Given the description of an element on the screen output the (x, y) to click on. 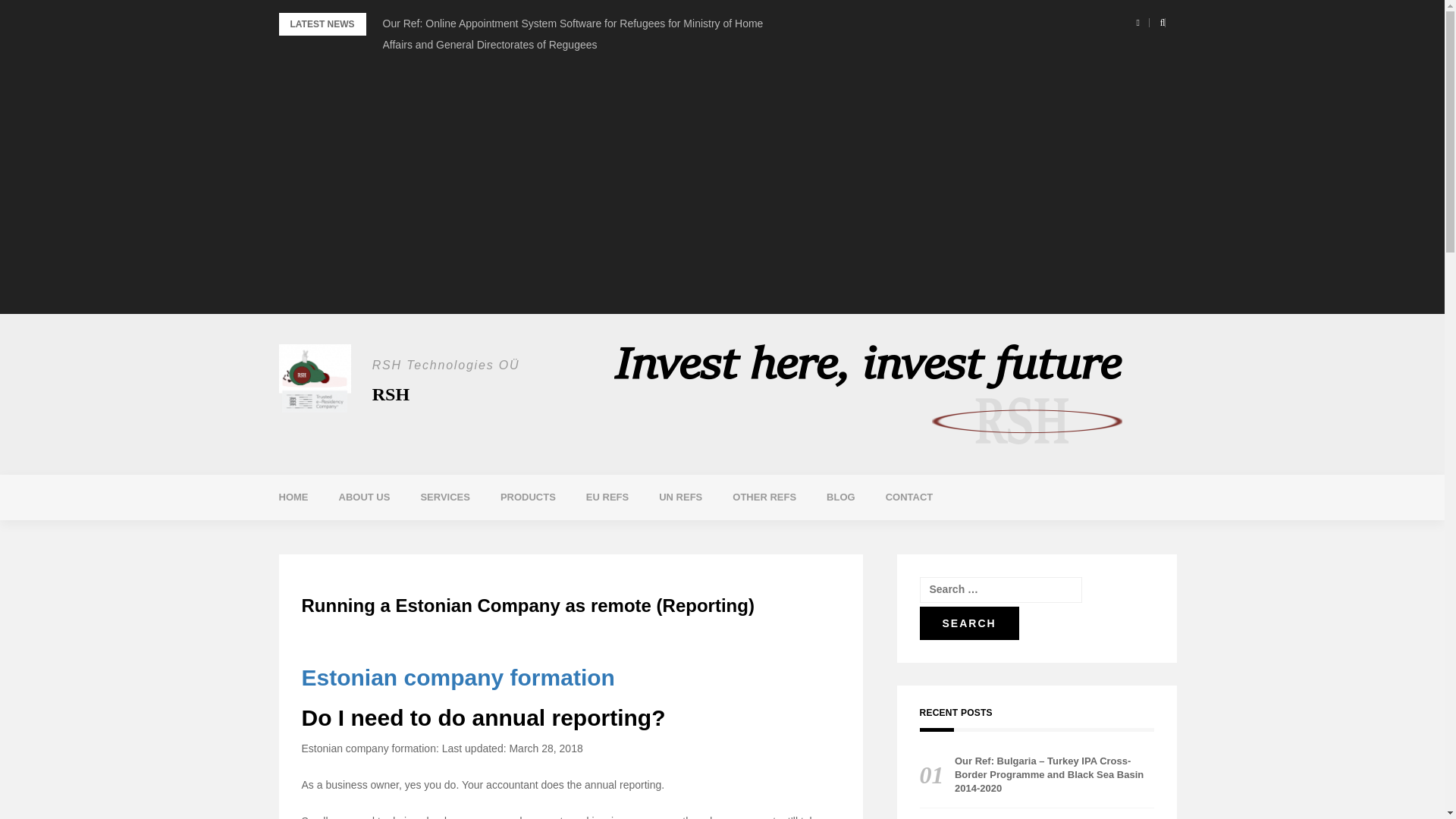
Products (527, 497)
RSH (390, 394)
About Us (363, 497)
Home (293, 497)
Search (967, 622)
BLOG (840, 497)
Services (444, 497)
UN REFS (680, 497)
HOME (293, 497)
Estonian company formation (457, 677)
Search (967, 622)
ABOUT US (363, 497)
